Given the description of an element on the screen output the (x, y) to click on. 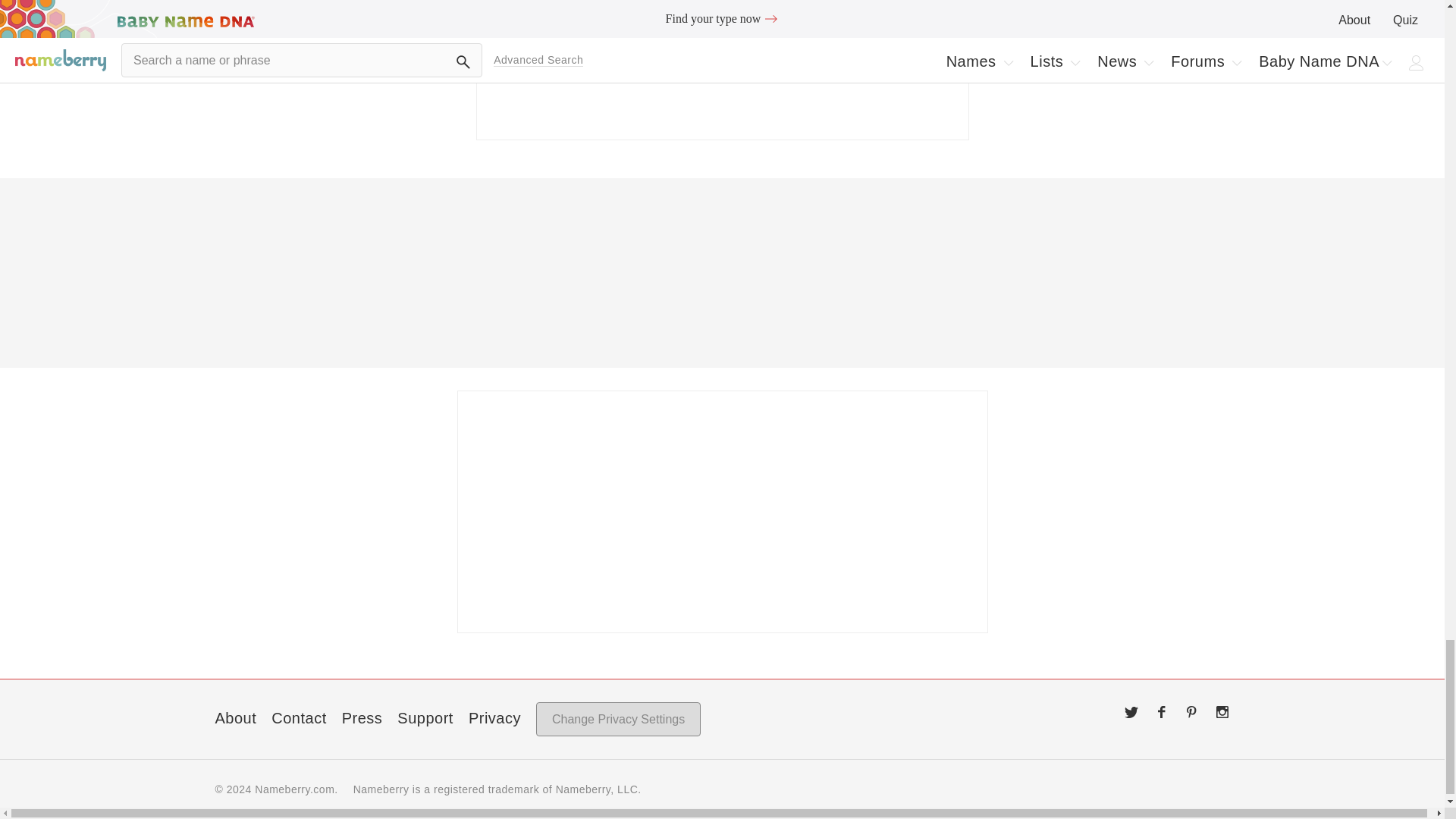
Facebook (1161, 711)
Sign up for the Nameberry Newsletter (722, 511)
Sign up for the Nameberry Newsletter (722, 70)
Twitter (1131, 711)
Instagram (1222, 711)
Pinterest (1192, 711)
